Given the description of an element on the screen output the (x, y) to click on. 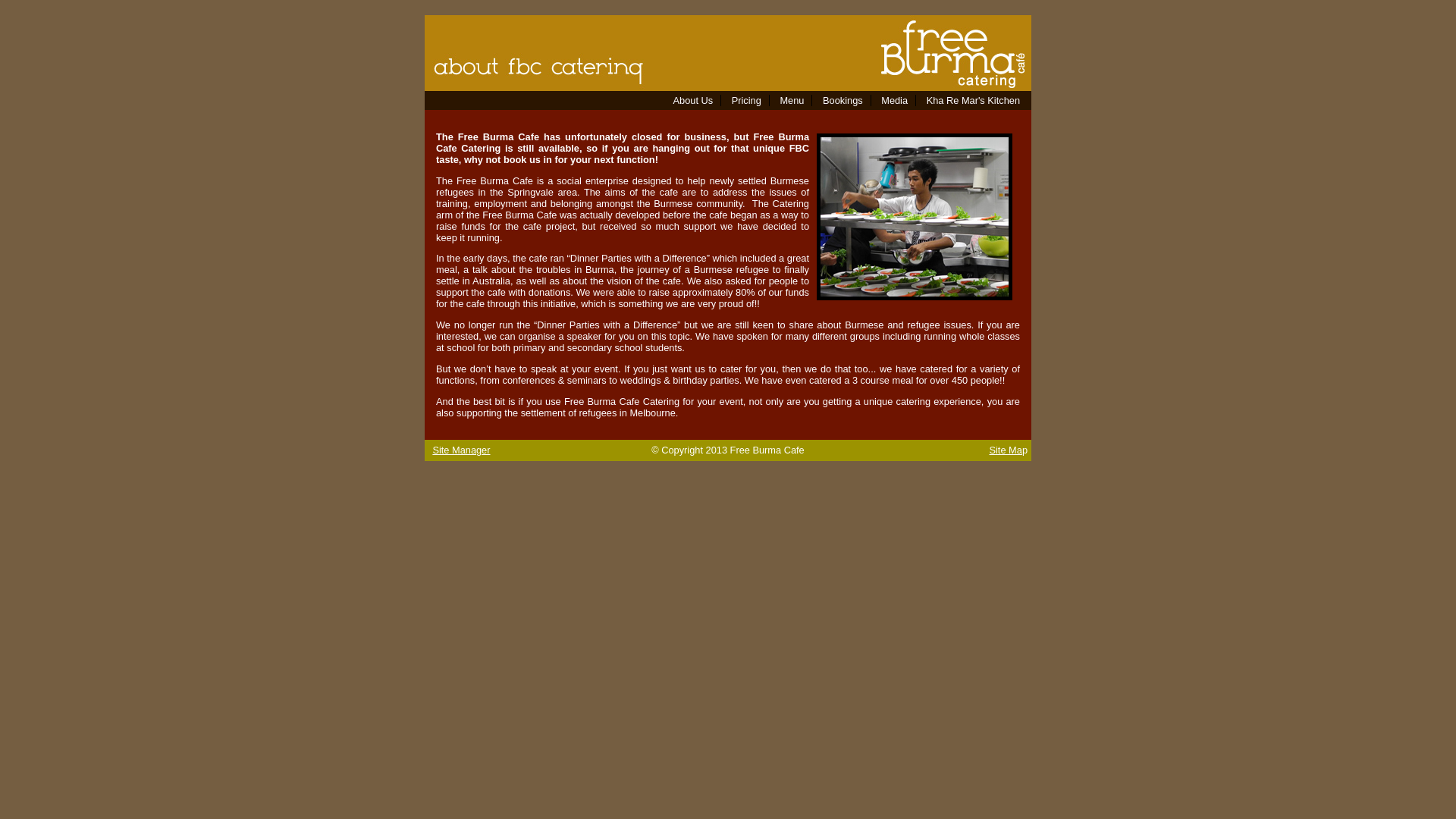
Site Map Element type: text (1007, 449)
Kha Re Mar's Kitchen Element type: text (972, 100)
Bookings Element type: text (842, 100)
About Us Element type: text (693, 100)
Menu Element type: text (791, 100)
Pricing Element type: text (746, 100)
Site Manager Element type: text (460, 449)
Media Element type: text (894, 100)
